Given the description of an element on the screen output the (x, y) to click on. 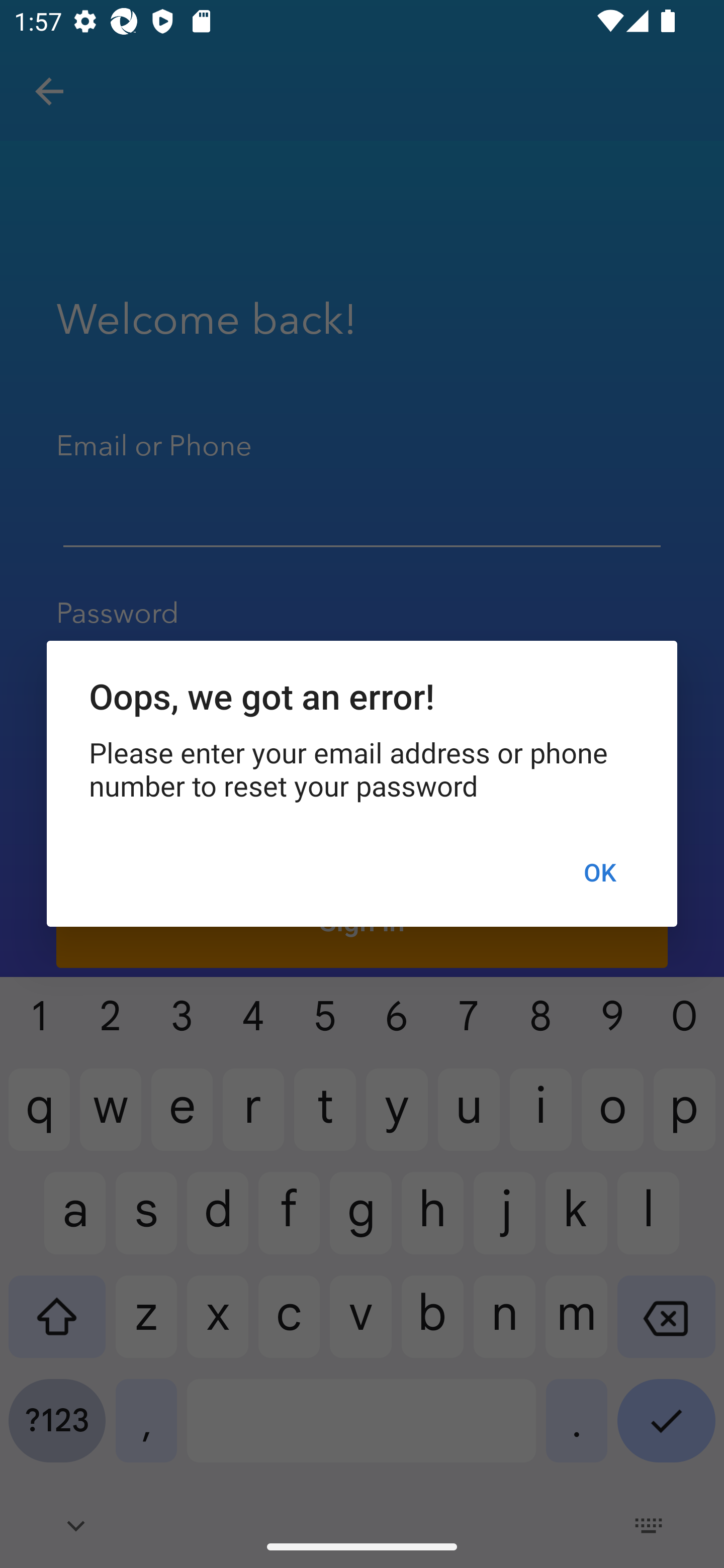
OK (599, 872)
